Given the description of an element on the screen output the (x, y) to click on. 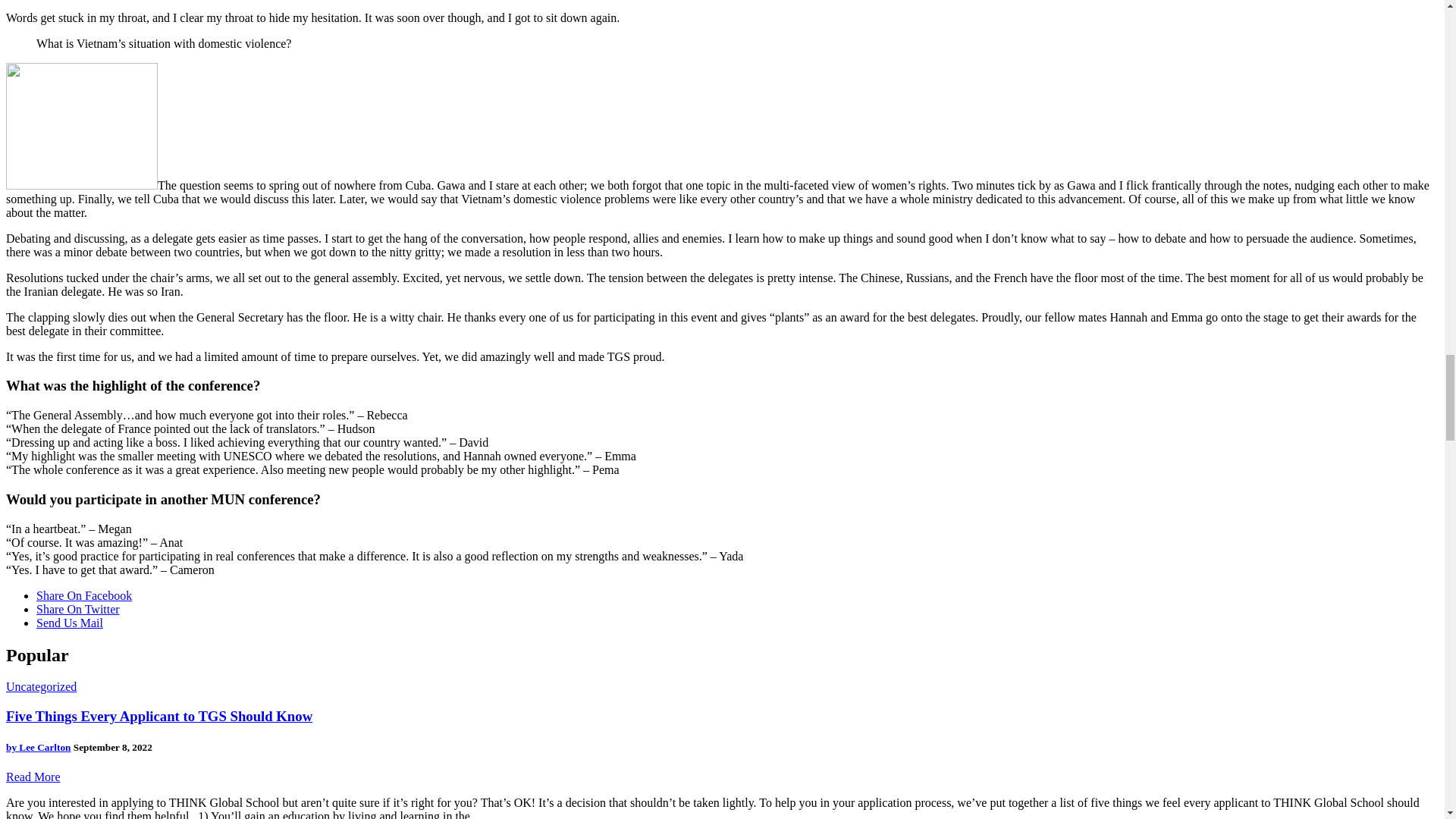
Send Us Mail (69, 622)
Share on Facebook (84, 594)
Pema works at the General Assembly for MUN in Chiang Mai (81, 126)
Share on Twitter (77, 608)
